Given the description of an element on the screen output the (x, y) to click on. 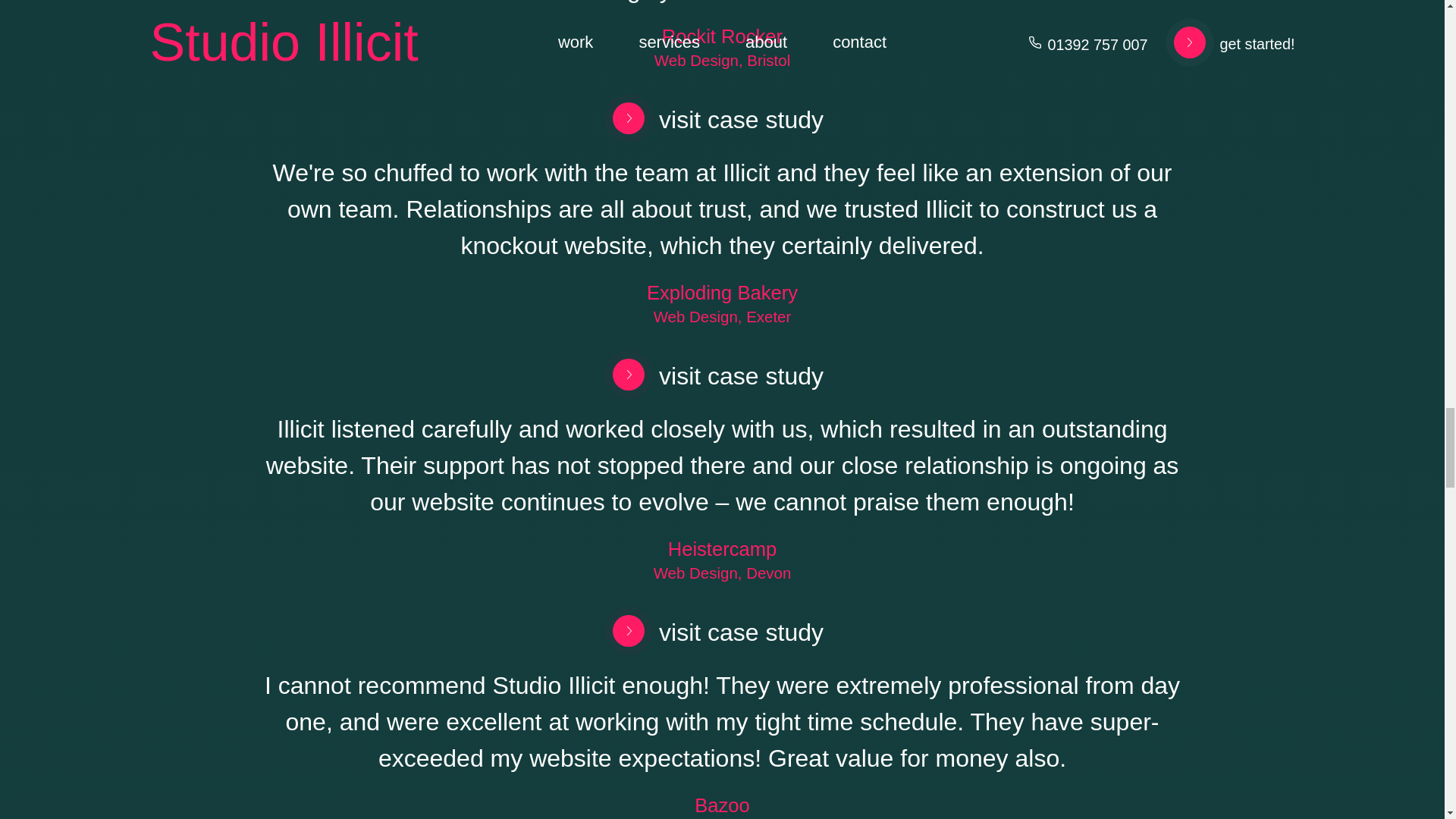
visit case study (711, 630)
visit case study (711, 373)
visit case study (711, 117)
